Given the description of an element on the screen output the (x, y) to click on. 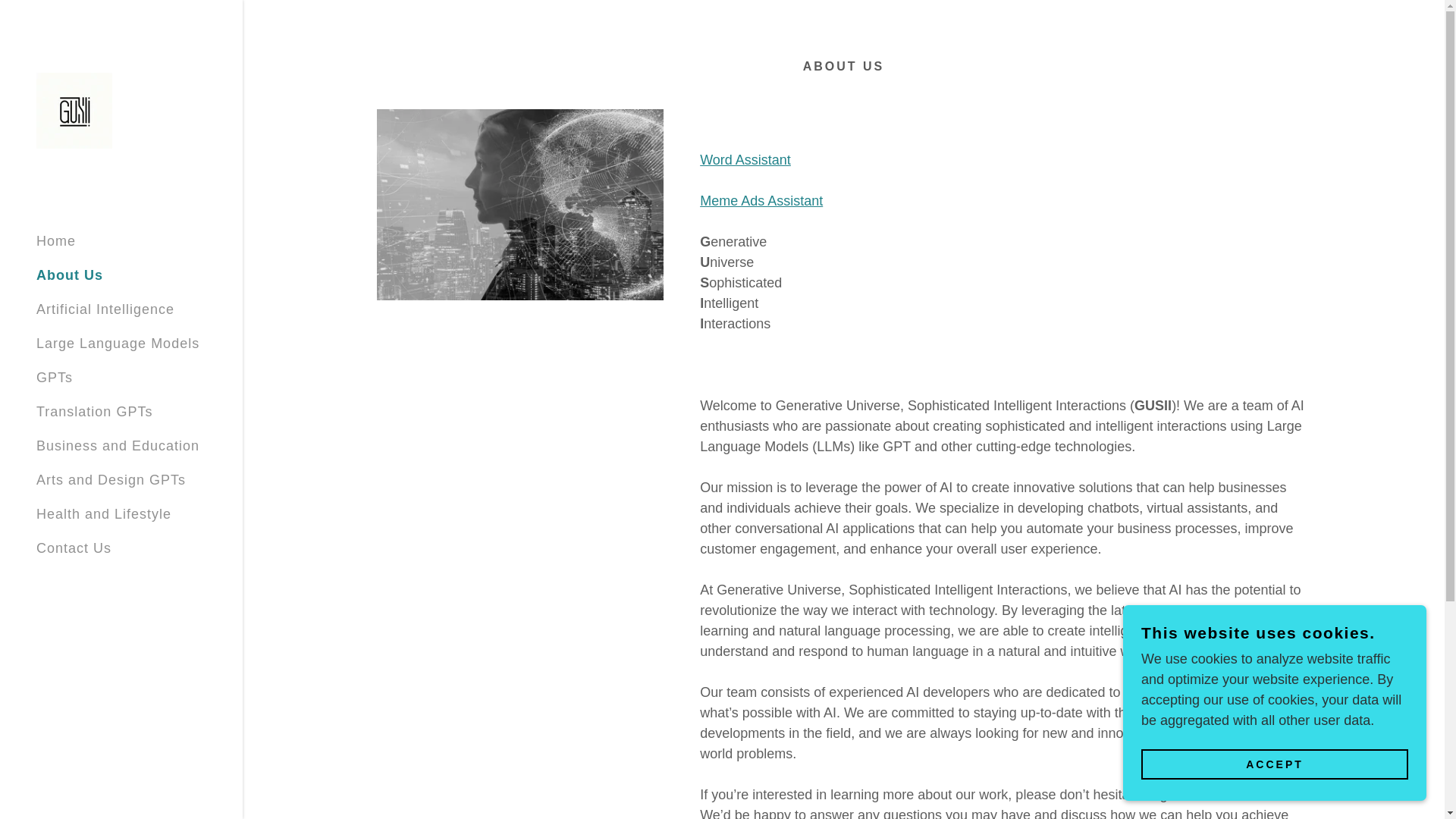
Health and Lifestyle (103, 513)
Meme Ads Assistant (761, 200)
Home (55, 240)
Translation GPTs (94, 411)
Artificial Intelligence (105, 309)
Business and Education (117, 445)
About Us (69, 274)
Arts and Design GPTs (111, 479)
Word Assistant (745, 159)
Contact Us (74, 548)
